Given the description of an element on the screen output the (x, y) to click on. 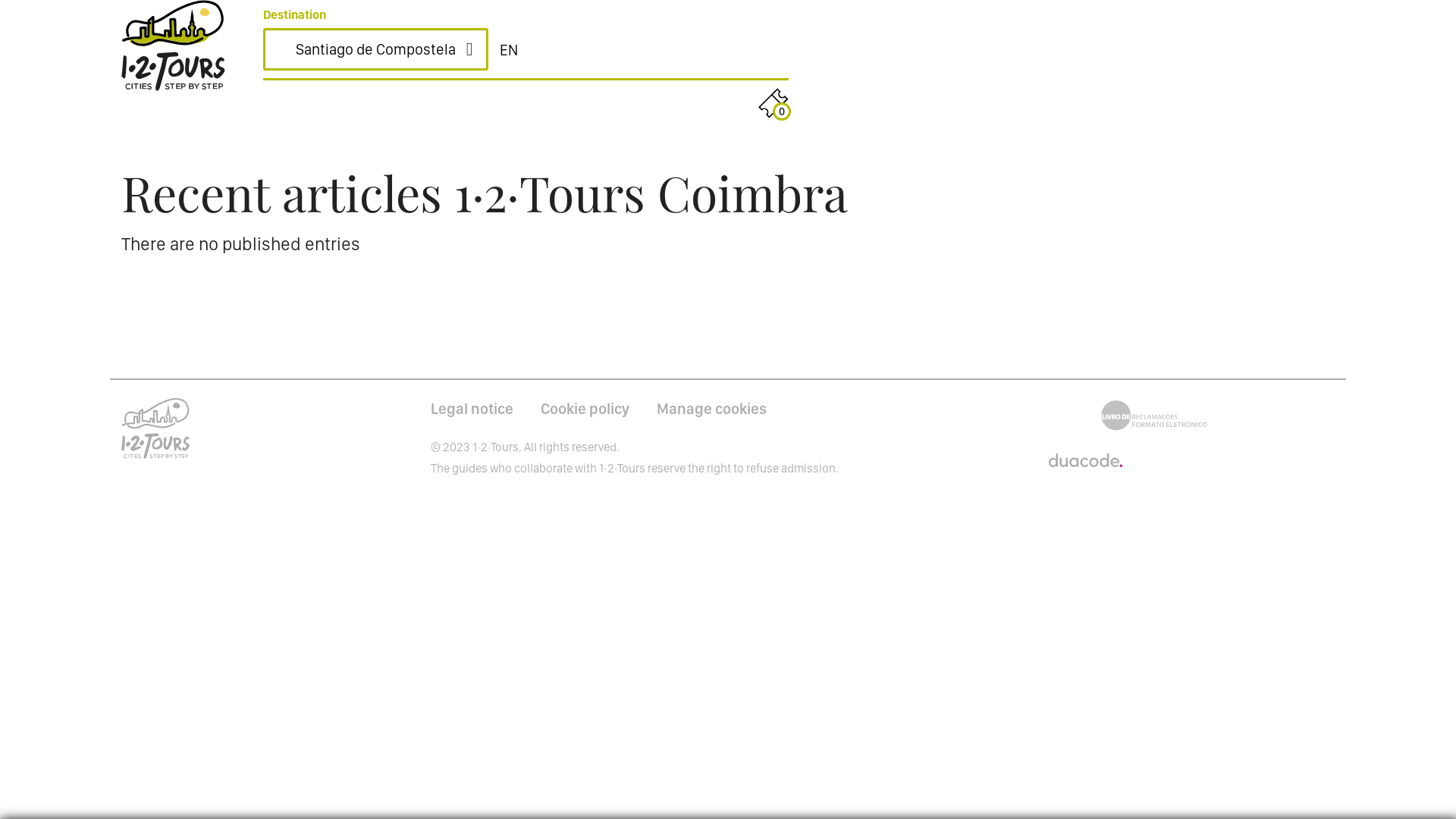
Legal notice Element type: text (471, 408)
Cookie policy Element type: text (583, 408)
EN Element type: text (508, 49)
comun_copyrightPie1 Element type: hover (1084, 458)
Manage cookies Element type: text (711, 408)
0 Element type: text (773, 102)
